Given the description of an element on the screen output the (x, y) to click on. 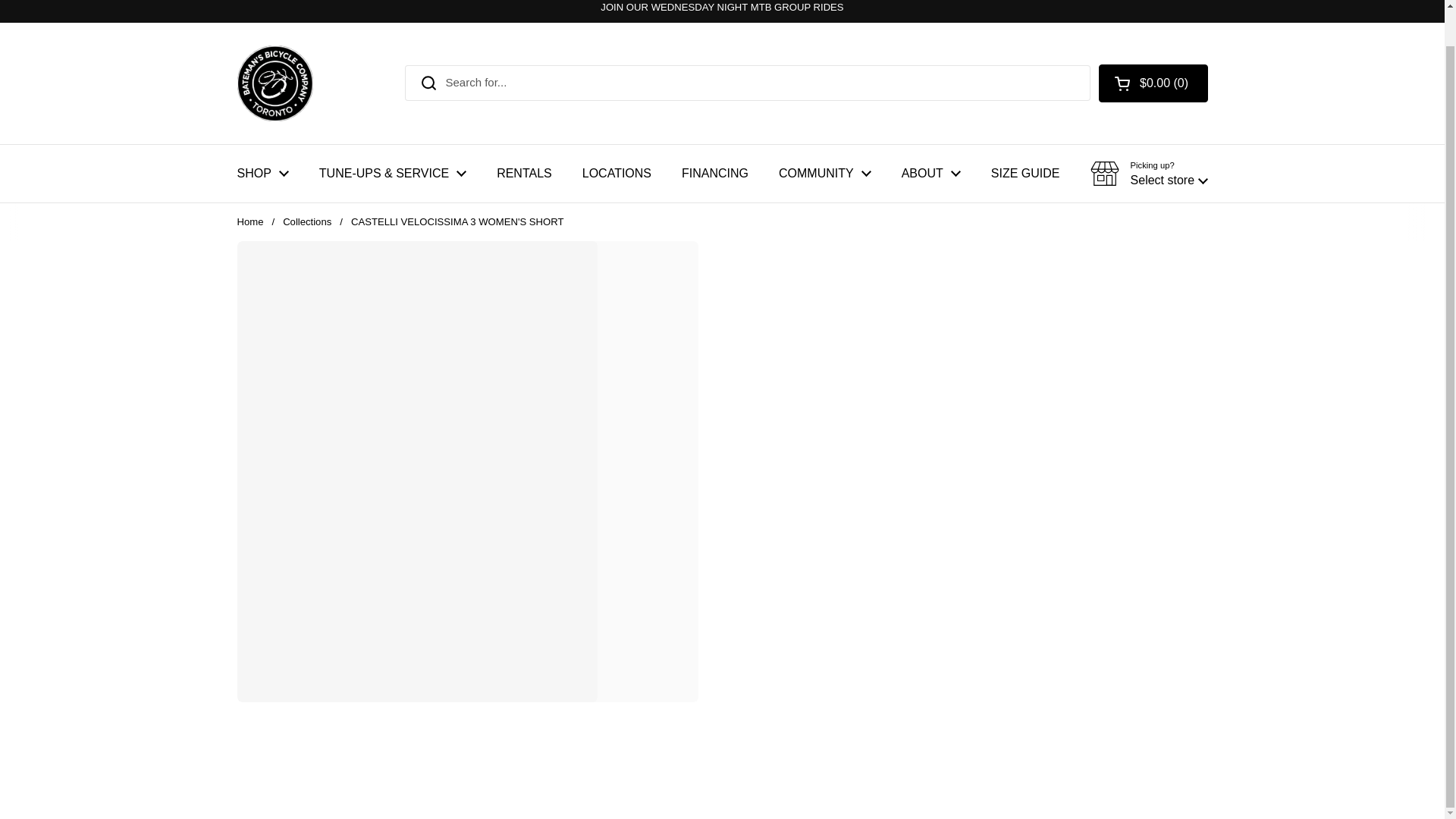
SHOP (261, 173)
Bateman's Bicycle Company (274, 83)
JOIN OUR WEDNESDAY NIGHT MTB GROUP RIDES (721, 7)
Open cart (1153, 83)
SHOP (261, 173)
